Given the description of an element on the screen output the (x, y) to click on. 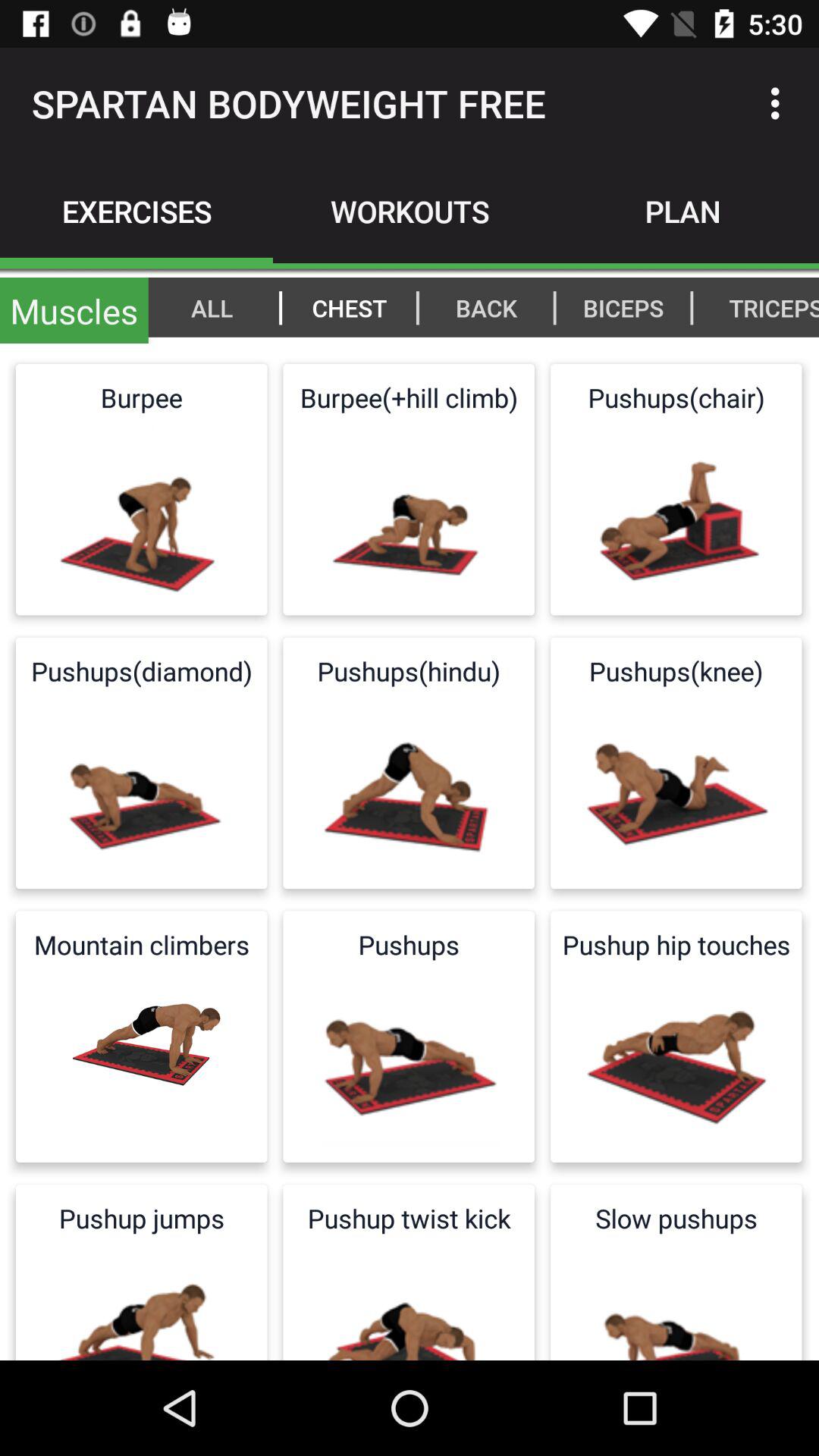
jump until the workouts app (409, 211)
